Given the description of an element on the screen output the (x, y) to click on. 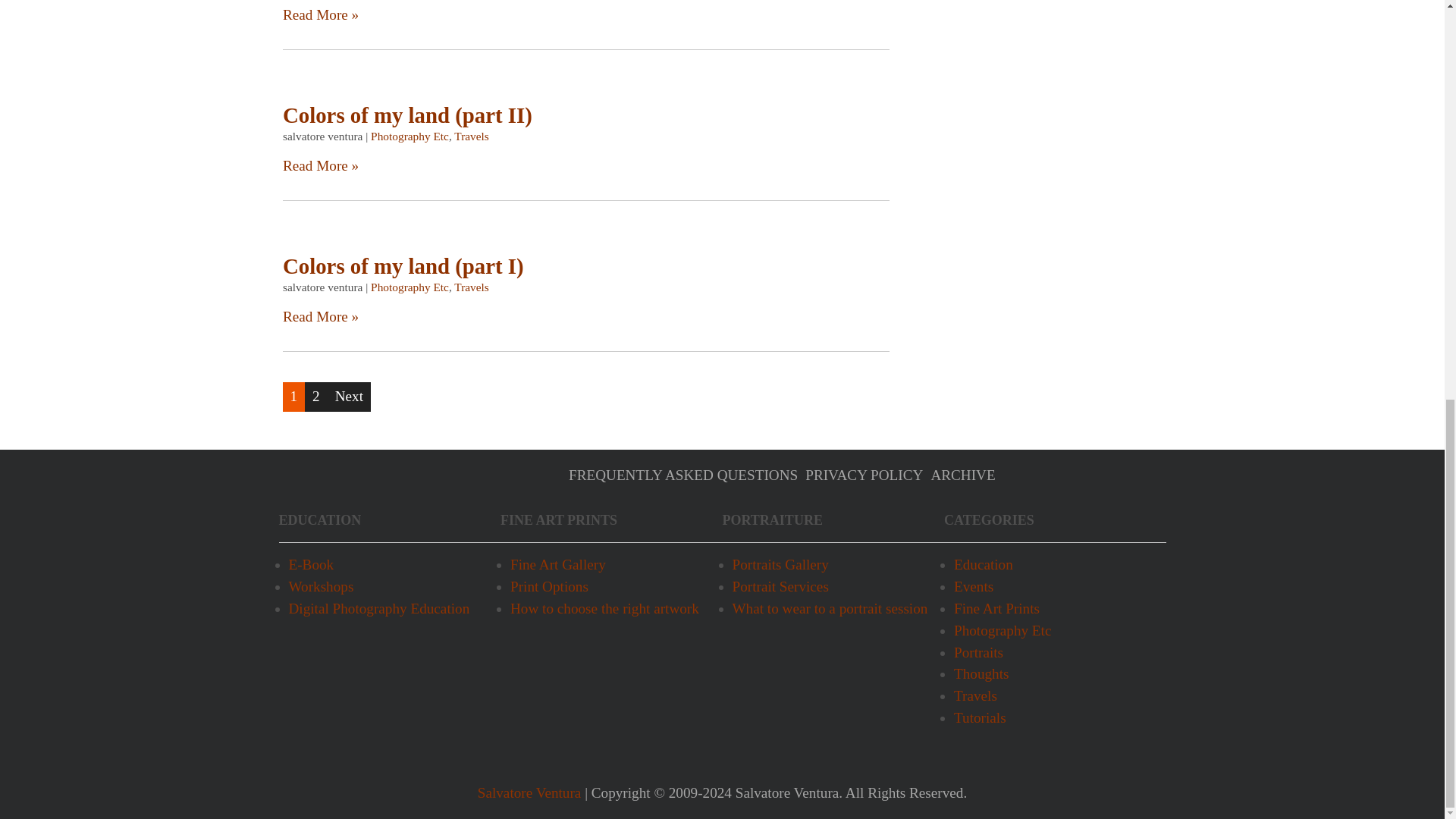
Travels (471, 135)
Photography Etc (409, 135)
